Given the description of an element on the screen output the (x, y) to click on. 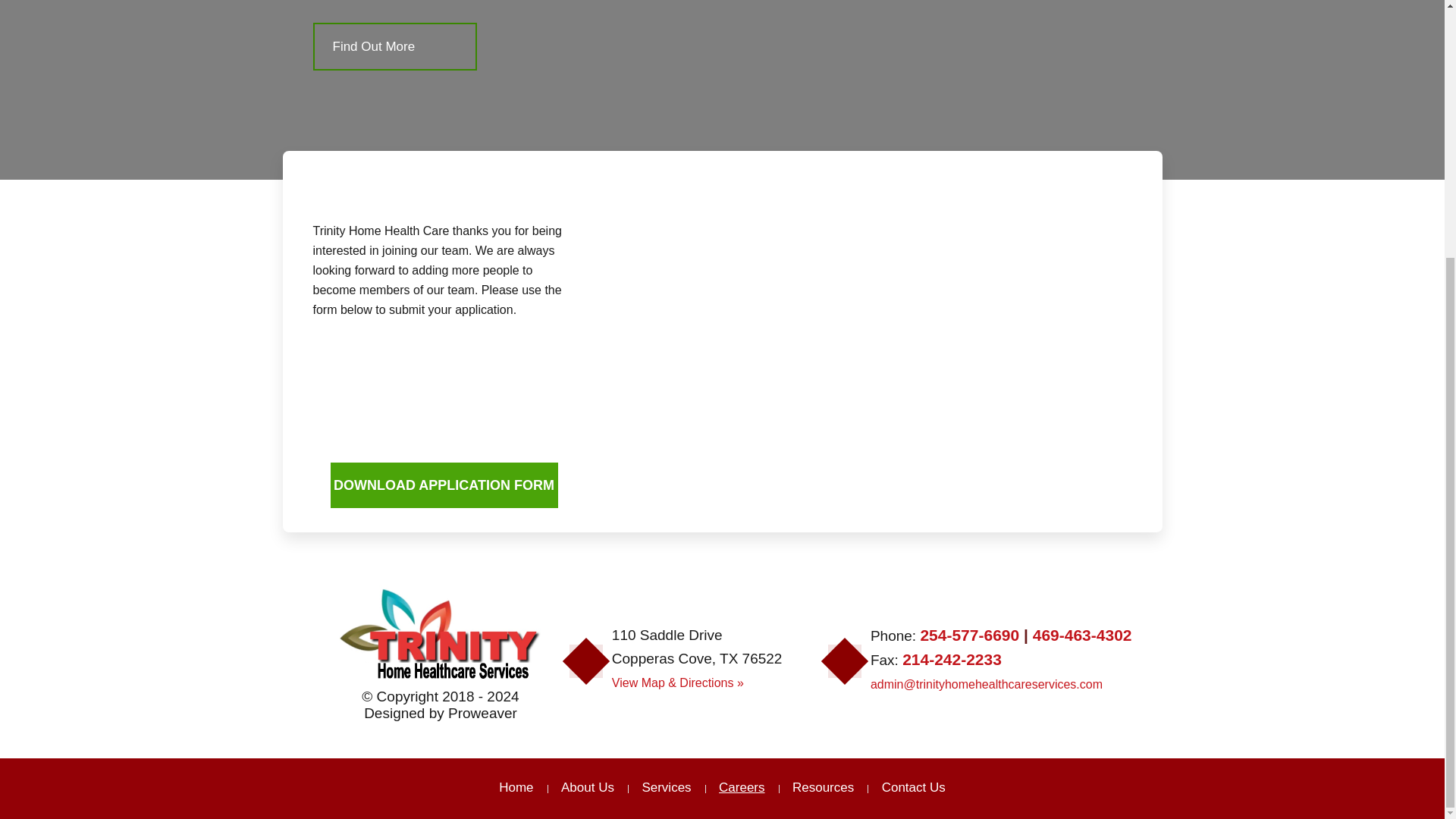
DOWNLOAD APPLICATION FORM (443, 484)
Services (665, 787)
Contact Us (913, 787)
Resources (823, 787)
Home (515, 787)
About Us (587, 787)
Careers (741, 787)
Find Out More (394, 46)
